Given the description of an element on the screen output the (x, y) to click on. 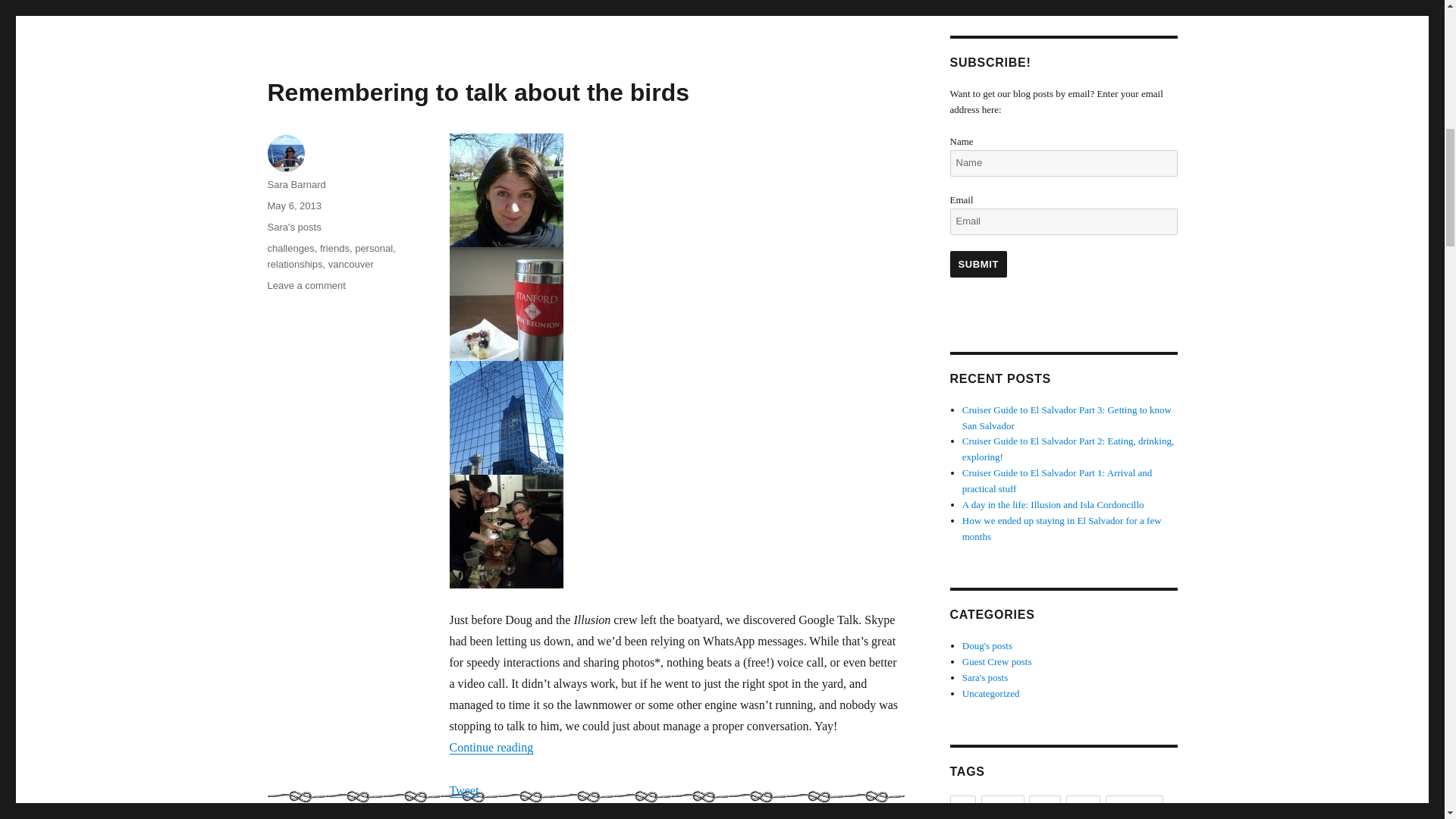
Tweet (463, 789)
Sara's posts (293, 226)
Sara Barnard (295, 184)
challenges (290, 247)
relationships (293, 264)
friends (334, 247)
vancouver (305, 285)
Submit (351, 264)
Remembering to talk about the birds (978, 263)
personal (477, 92)
May 6, 2013 (374, 247)
